Given the description of an element on the screen output the (x, y) to click on. 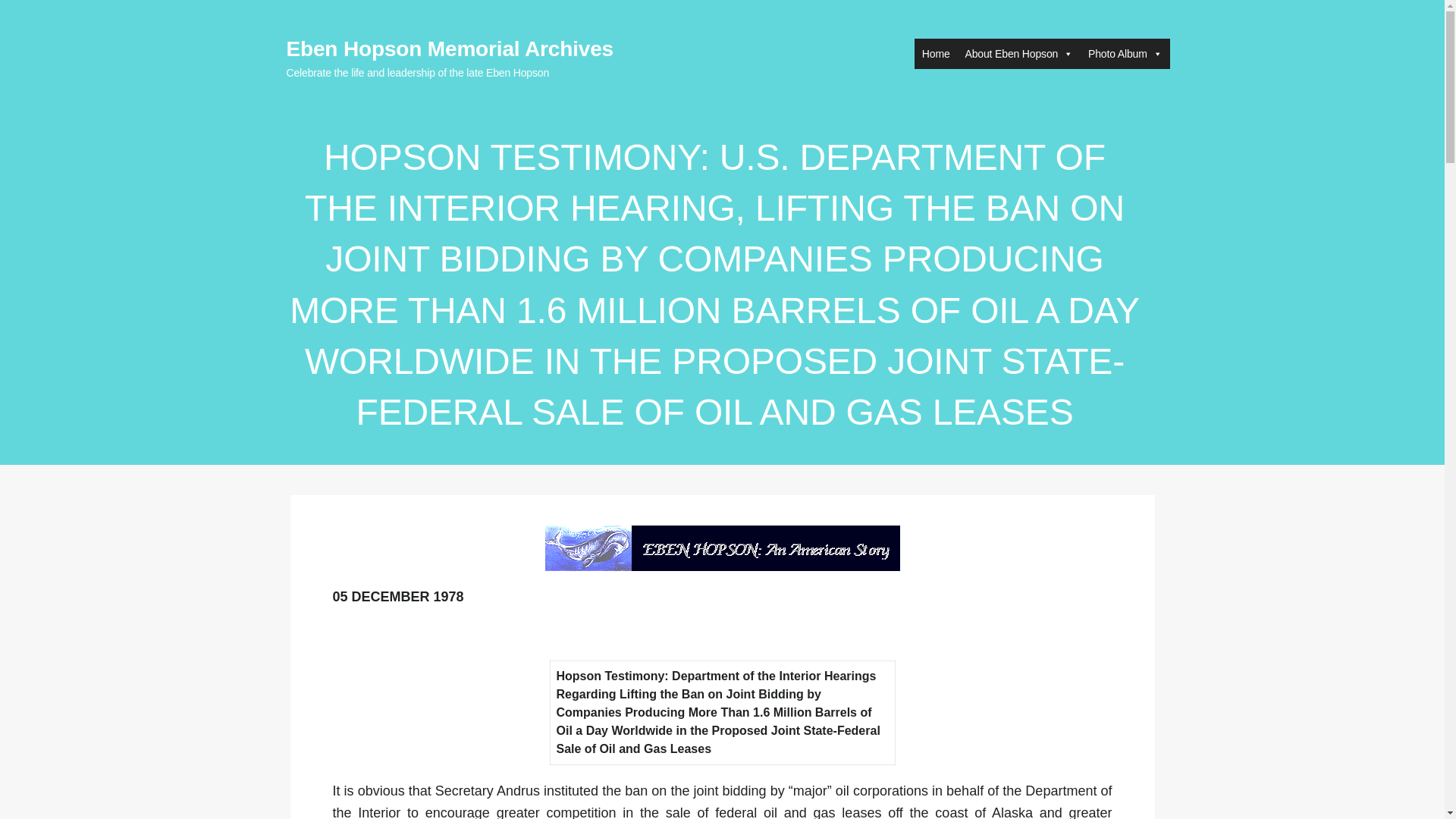
Photo Album (1124, 53)
Eben Hopson Memorial Archives (450, 48)
About Eben Hopson (1019, 53)
Home (936, 53)
